Given the description of an element on the screen output the (x, y) to click on. 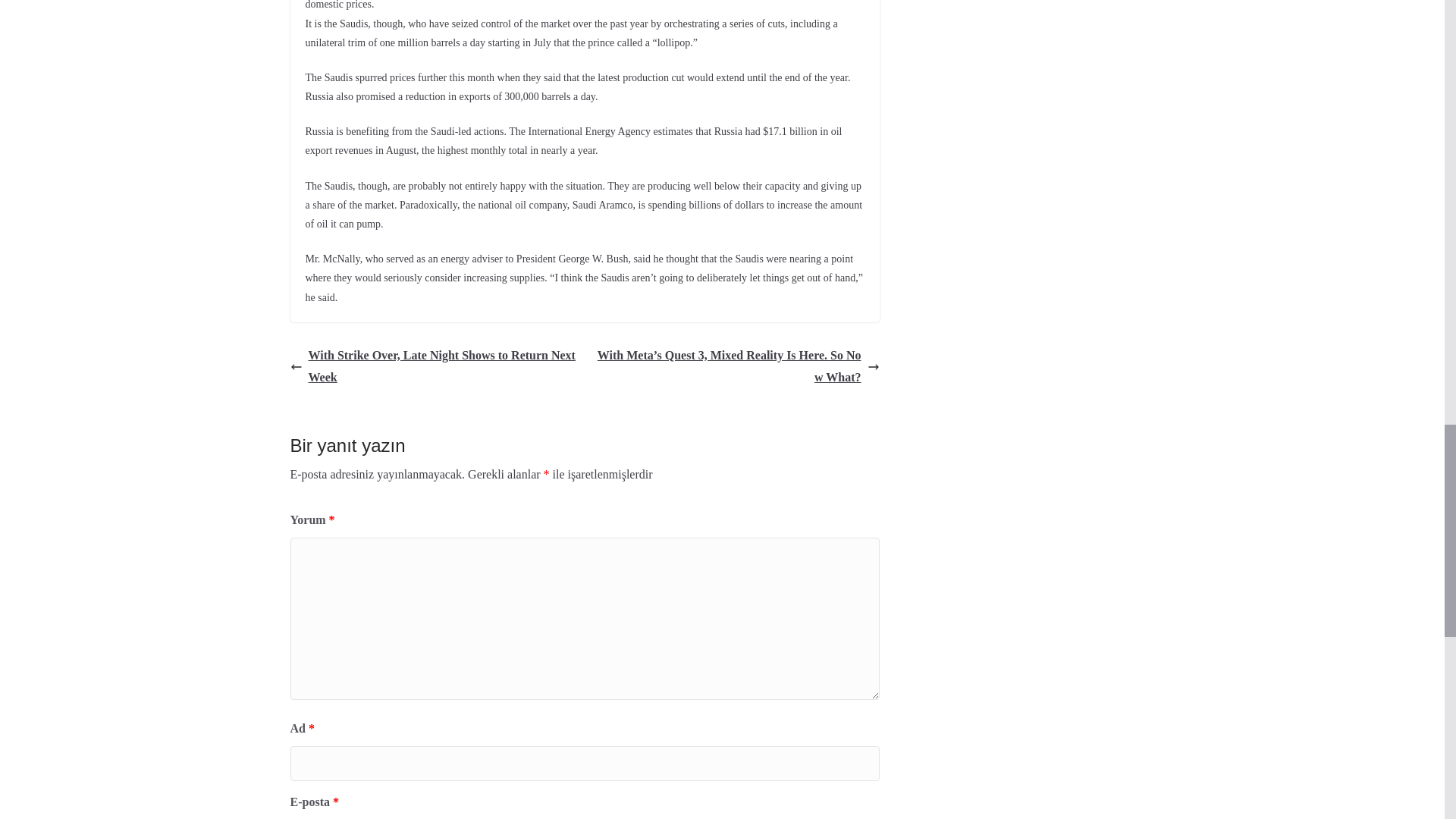
With Strike Over, Late Night Shows to Return Next Week (432, 366)
